Given the description of an element on the screen output the (x, y) to click on. 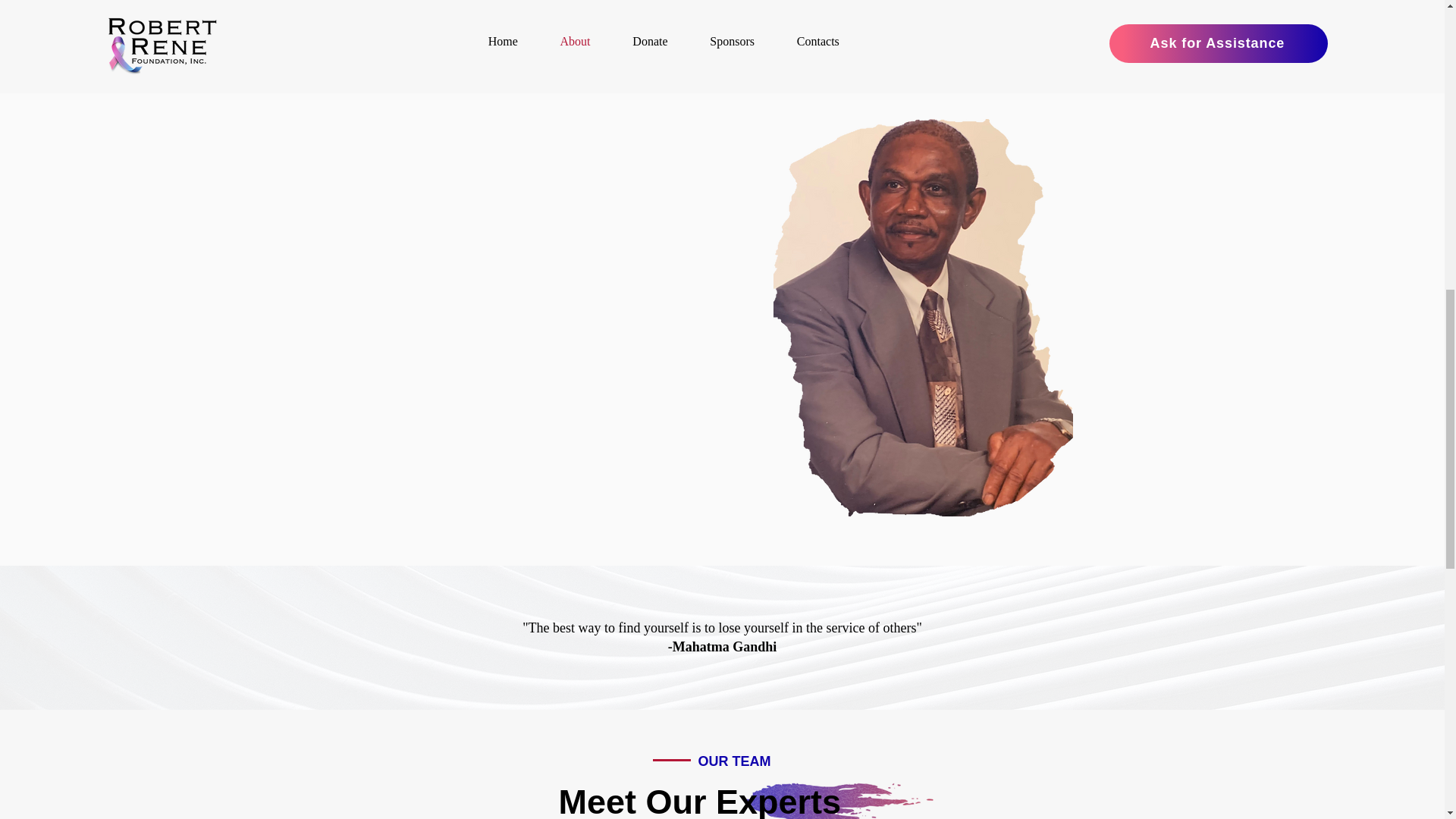
banner-title-shape.png (839, 800)
